Given the description of an element on the screen output the (x, y) to click on. 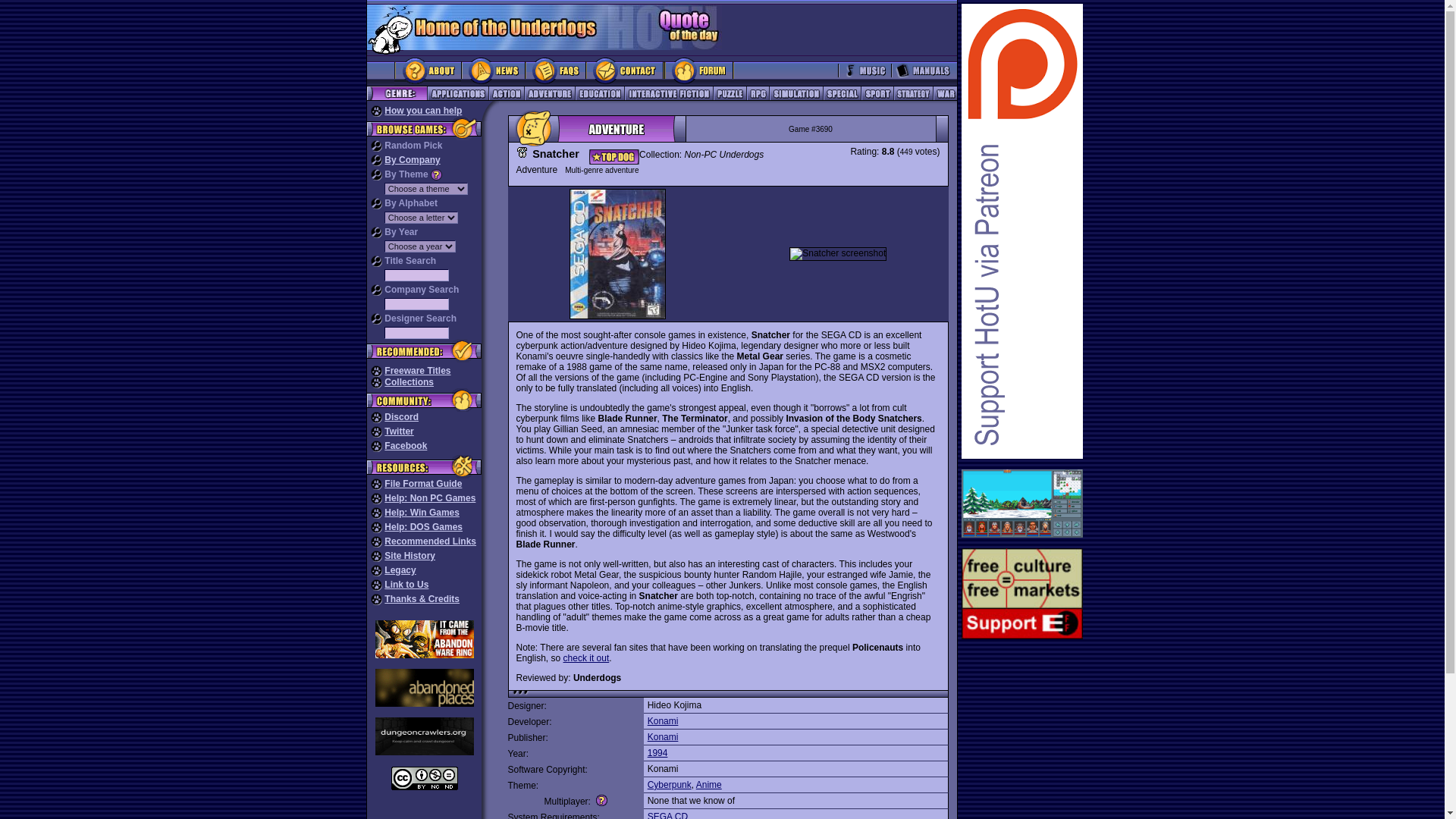
Help: Win Games (422, 511)
Link to Us (406, 584)
Help: DOS Games (423, 526)
By Company (411, 159)
Recommended Links (430, 541)
Collections (408, 381)
Site History (409, 555)
Freeware Titles (416, 370)
Random Pick (413, 145)
Twitter (398, 430)
Help: Non PC Games (430, 498)
How you can help (422, 110)
Facebook (405, 445)
Legacy (399, 570)
Discord (401, 416)
